Given the description of an element on the screen output the (x, y) to click on. 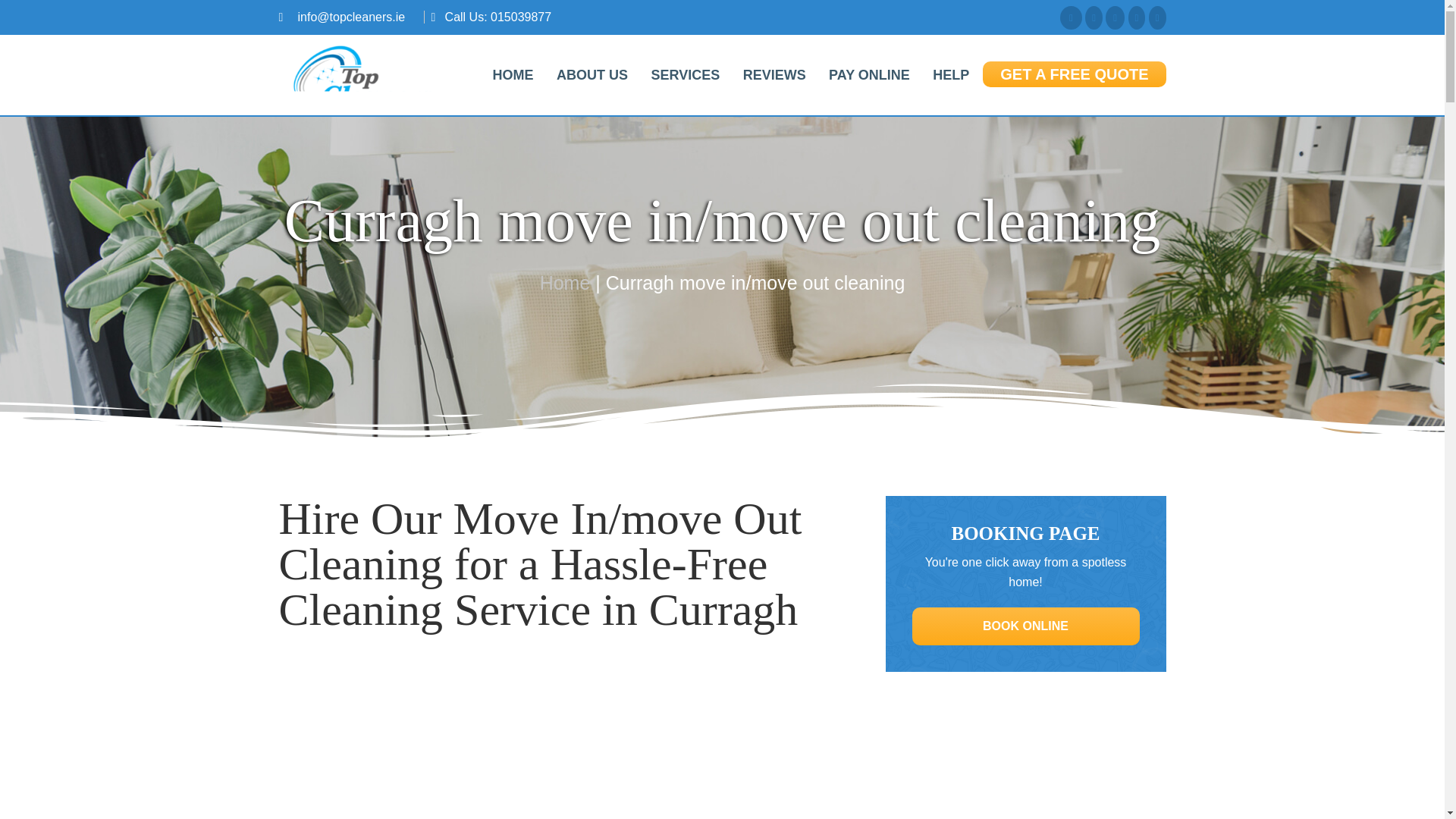
Home (565, 282)
HELP (950, 74)
BOOK ONLINE (1025, 625)
SERVICES (684, 74)
REVIEWS (774, 74)
PAY ONLINE (869, 74)
HOME (513, 74)
Call Us: 015039877 (498, 16)
BOOK ONLINE (1024, 626)
